Given the description of an element on the screen output the (x, y) to click on. 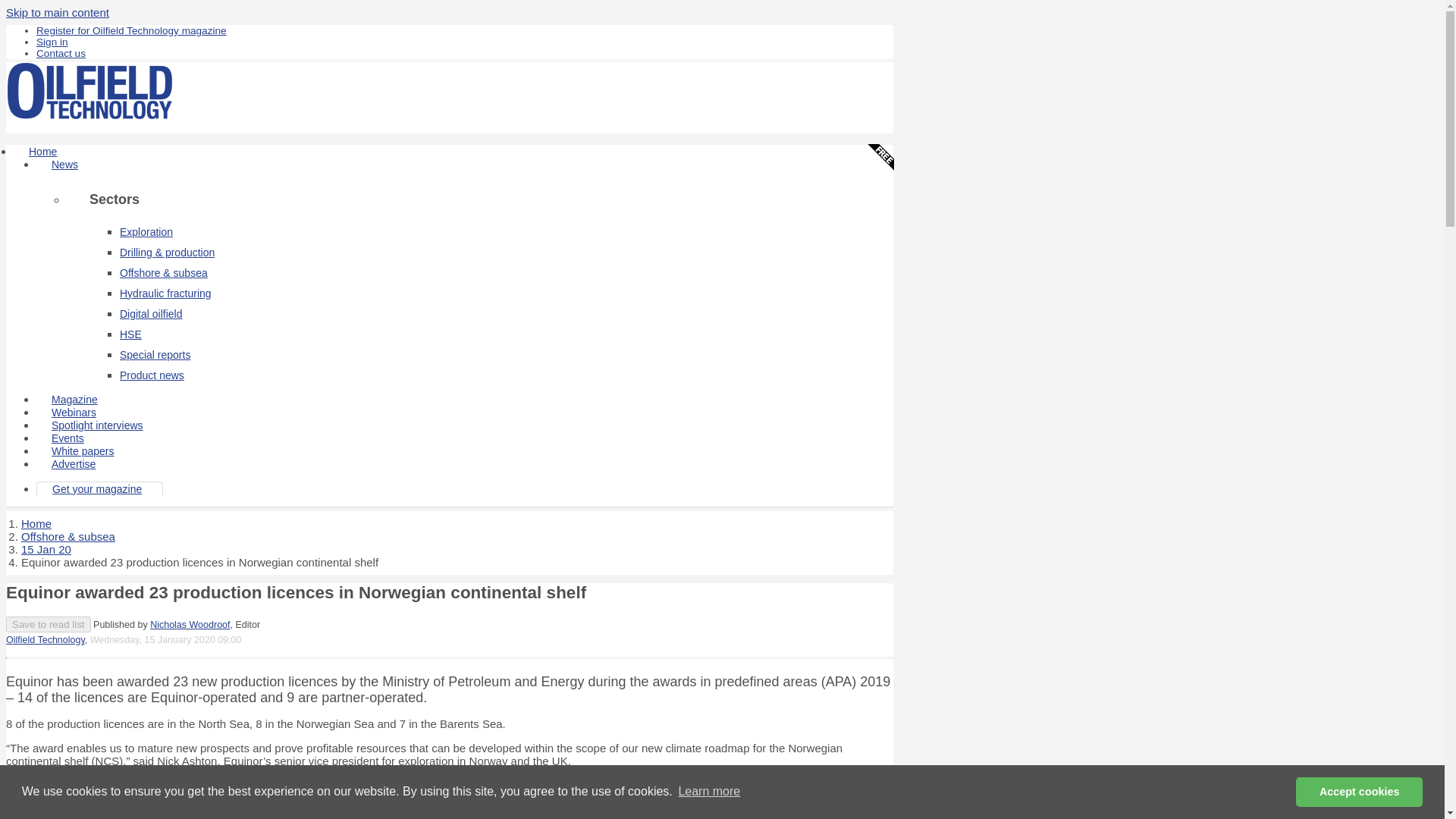
Get your magazine (97, 488)
Learn more (708, 791)
White papers (82, 451)
Webinars (74, 411)
Events (67, 438)
Contact us (60, 52)
Skip to main content (57, 11)
Accept cookies (1358, 791)
Digital oilfield (150, 313)
HSE (130, 334)
Sign in (52, 41)
Save to read list (47, 624)
Nicholas Woodroof (189, 624)
Hydraulic fracturing (165, 293)
Special reports (154, 354)
